Given the description of an element on the screen output the (x, y) to click on. 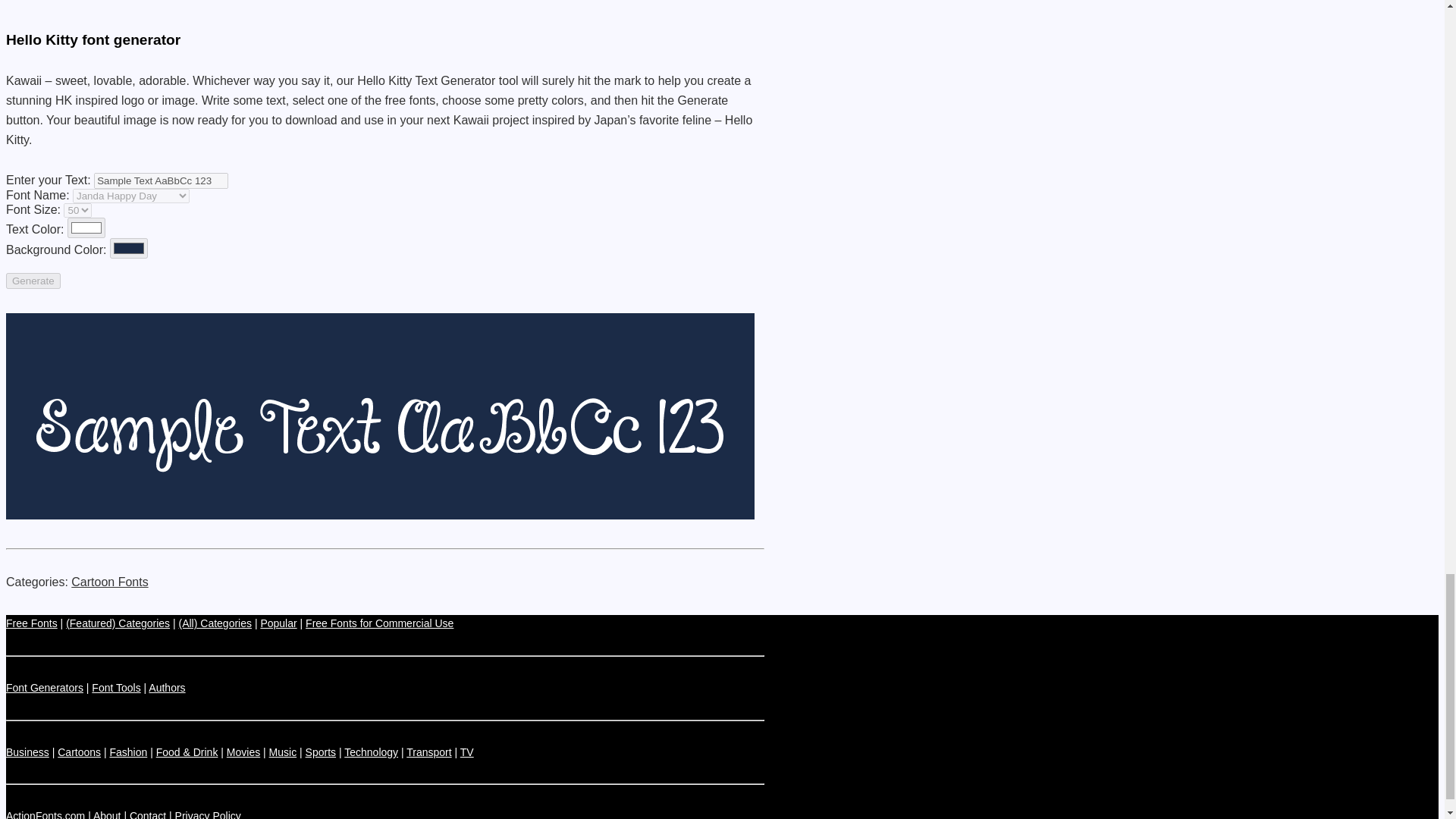
Authors (166, 687)
Technology (370, 752)
Music (283, 752)
Free Fonts for Commercial Use (378, 623)
Transport (428, 752)
Sample Text AaBbCc 123 (161, 180)
Font Tools (115, 687)
Sports (320, 752)
Cartoons (79, 752)
Free Fonts (31, 623)
Cartoon Fonts (109, 581)
Fashion (128, 752)
Choose your color (129, 248)
Generate (33, 280)
Choose your color (85, 227)
